Given the description of an element on the screen output the (x, y) to click on. 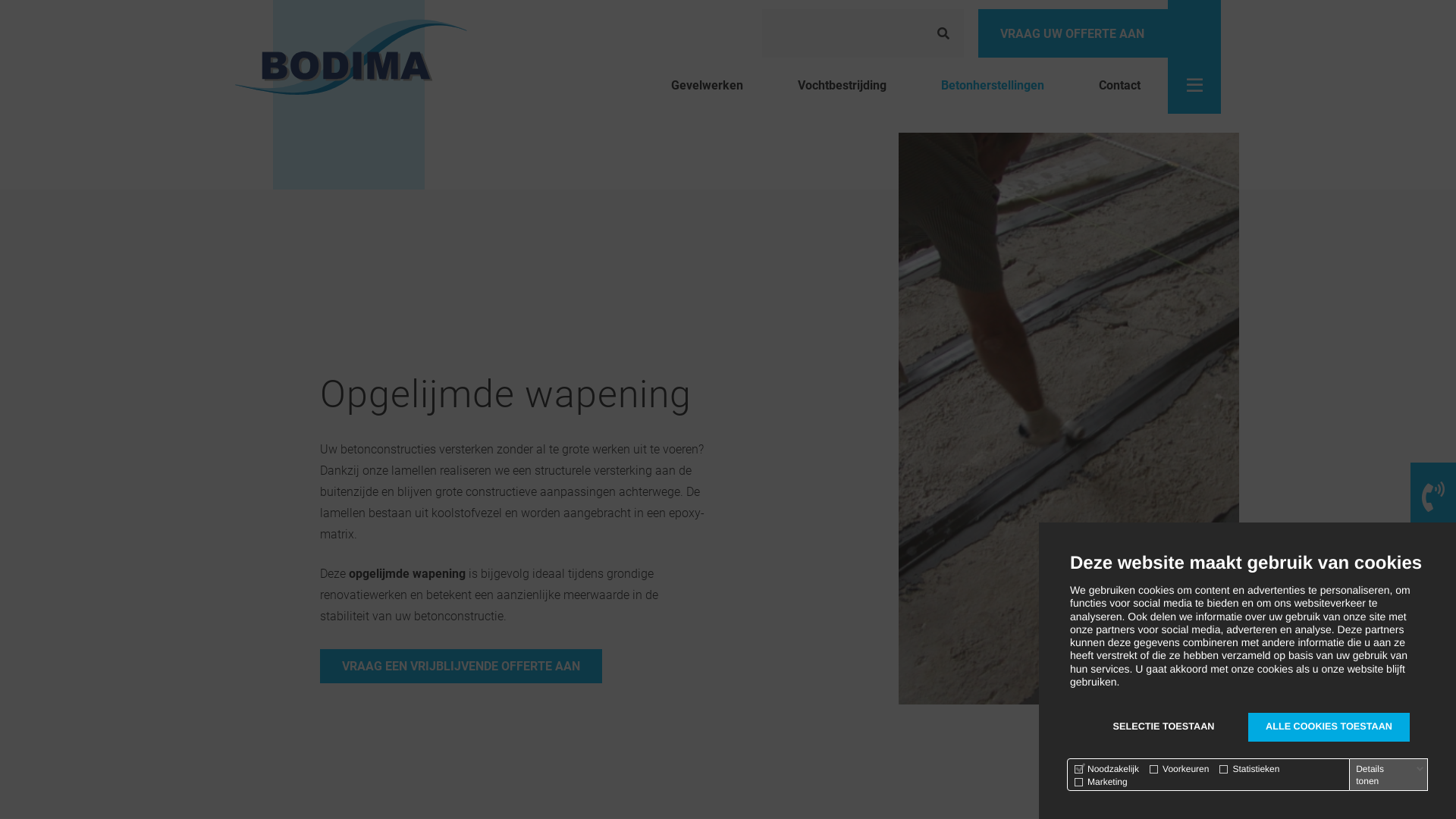
VRAAG EEN VRIJBLIJVENDE OFFERTE AAN Element type: text (461, 666)
Gevelwerken Element type: text (706, 85)
Betonherstellingen Element type: text (992, 85)
Contact Element type: text (1119, 85)
Vochtbestrijding Element type: text (841, 85)
SELECTIE TOESTAAN Element type: text (1163, 726)
ALLE COOKIES TOESTAAN Element type: text (1328, 726)
Details tonen Element type: text (1389, 774)
VRAAG UW OFFERTE AAN Element type: text (1072, 33)
